Given the description of an element on the screen output the (x, y) to click on. 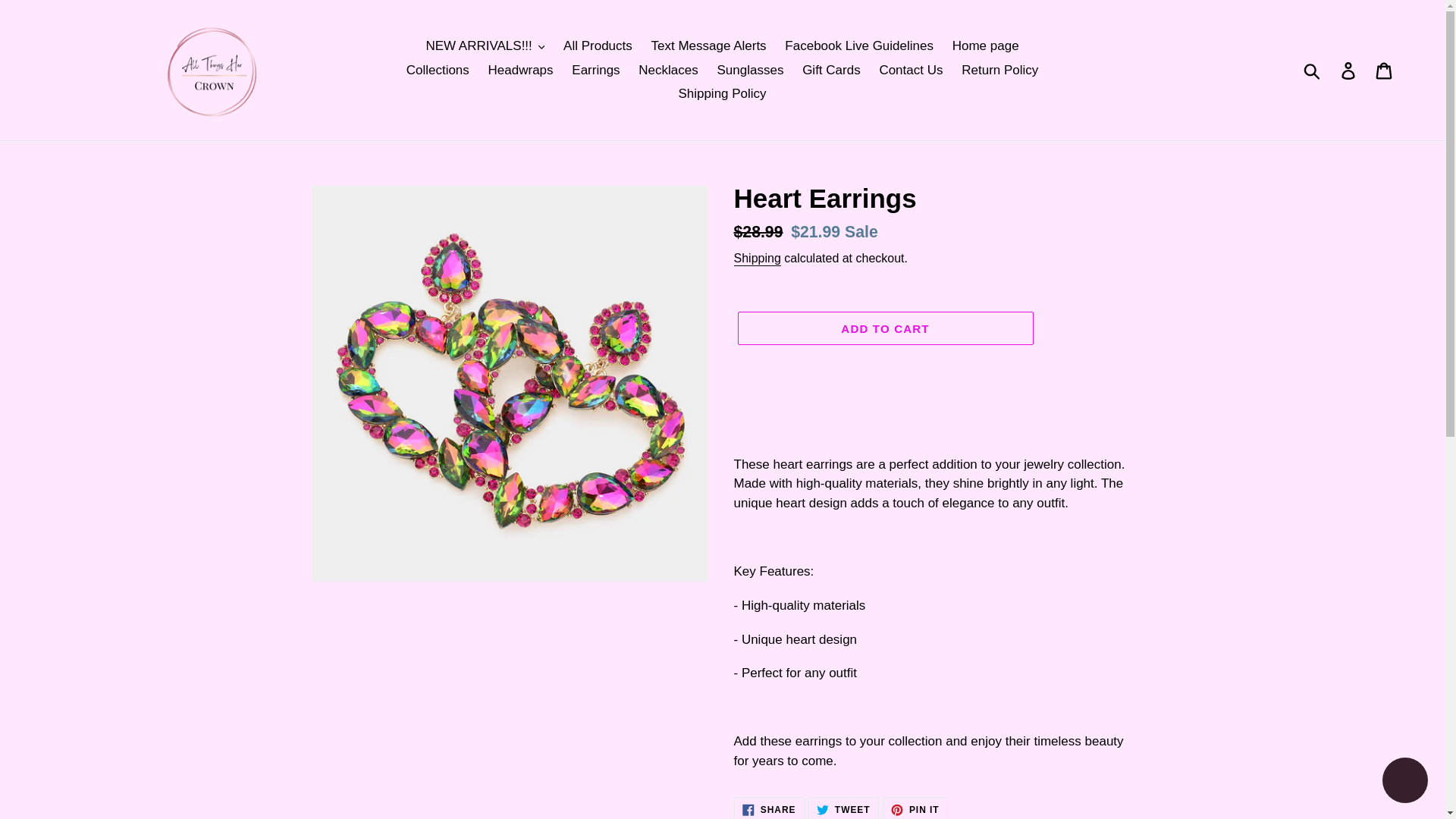
Gift Cards (830, 70)
Facebook Live Guidelines (858, 46)
Submit (1313, 69)
Log in (1349, 70)
Necklaces (667, 70)
Contact Us (910, 70)
All Products (598, 46)
Shopify online store chat (1404, 781)
Return Policy (999, 70)
Earrings (595, 70)
